Given the description of an element on the screen output the (x, y) to click on. 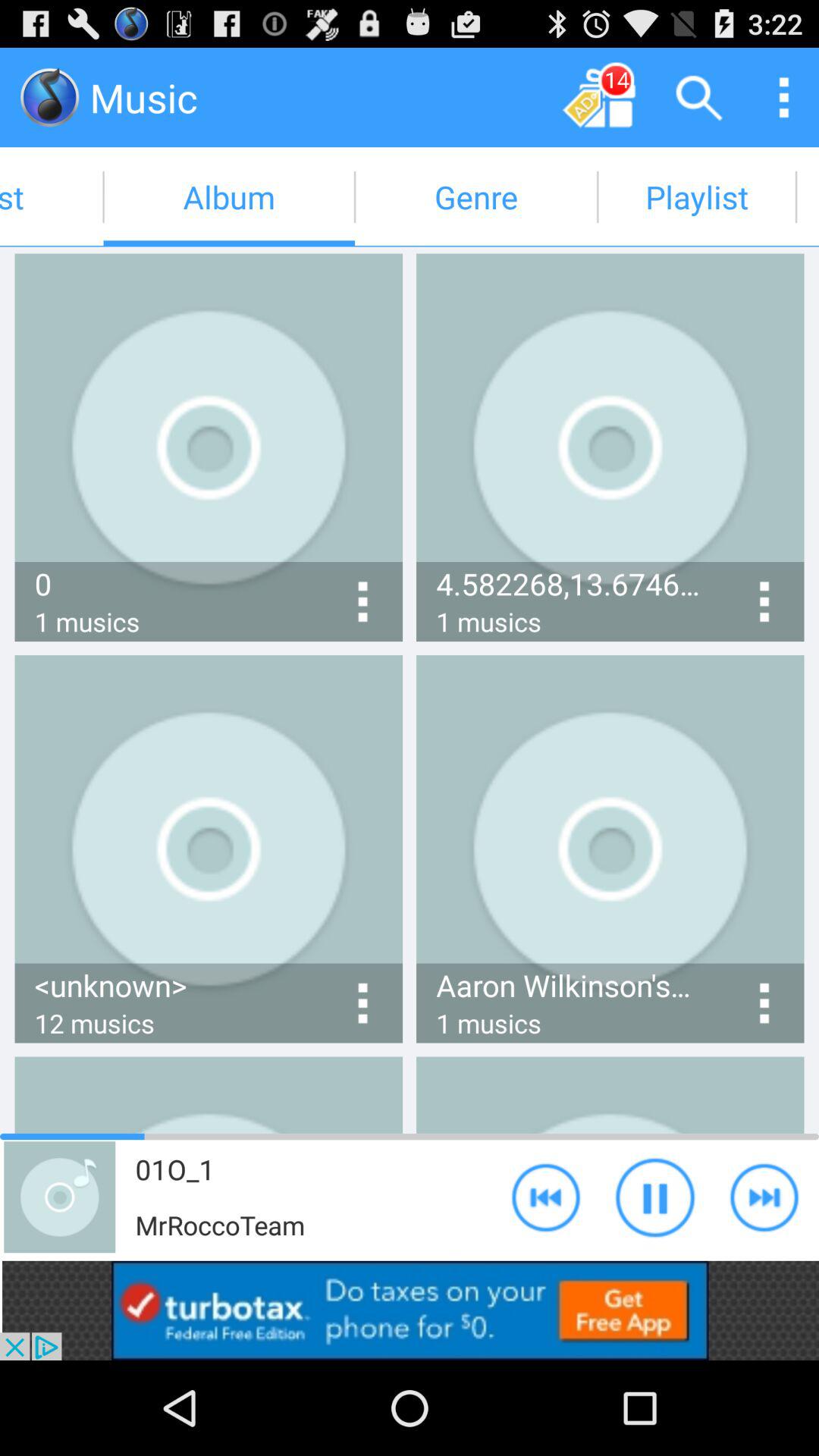
advertisement at bottom (409, 1310)
